Given the description of an element on the screen output the (x, y) to click on. 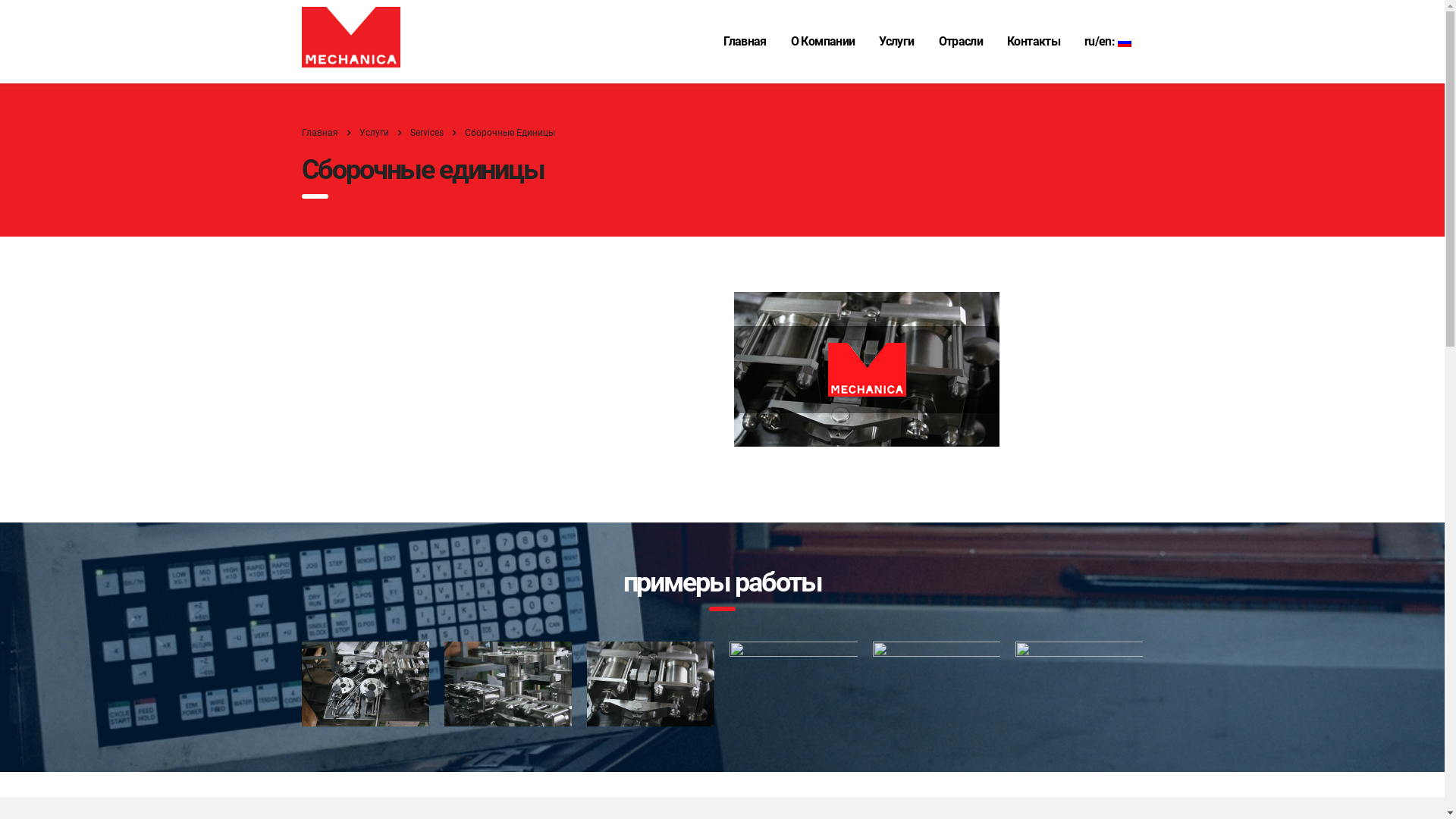
Services Element type: text (425, 132)
ru/en:  Element type: text (1107, 41)
